Given the description of an element on the screen output the (x, y) to click on. 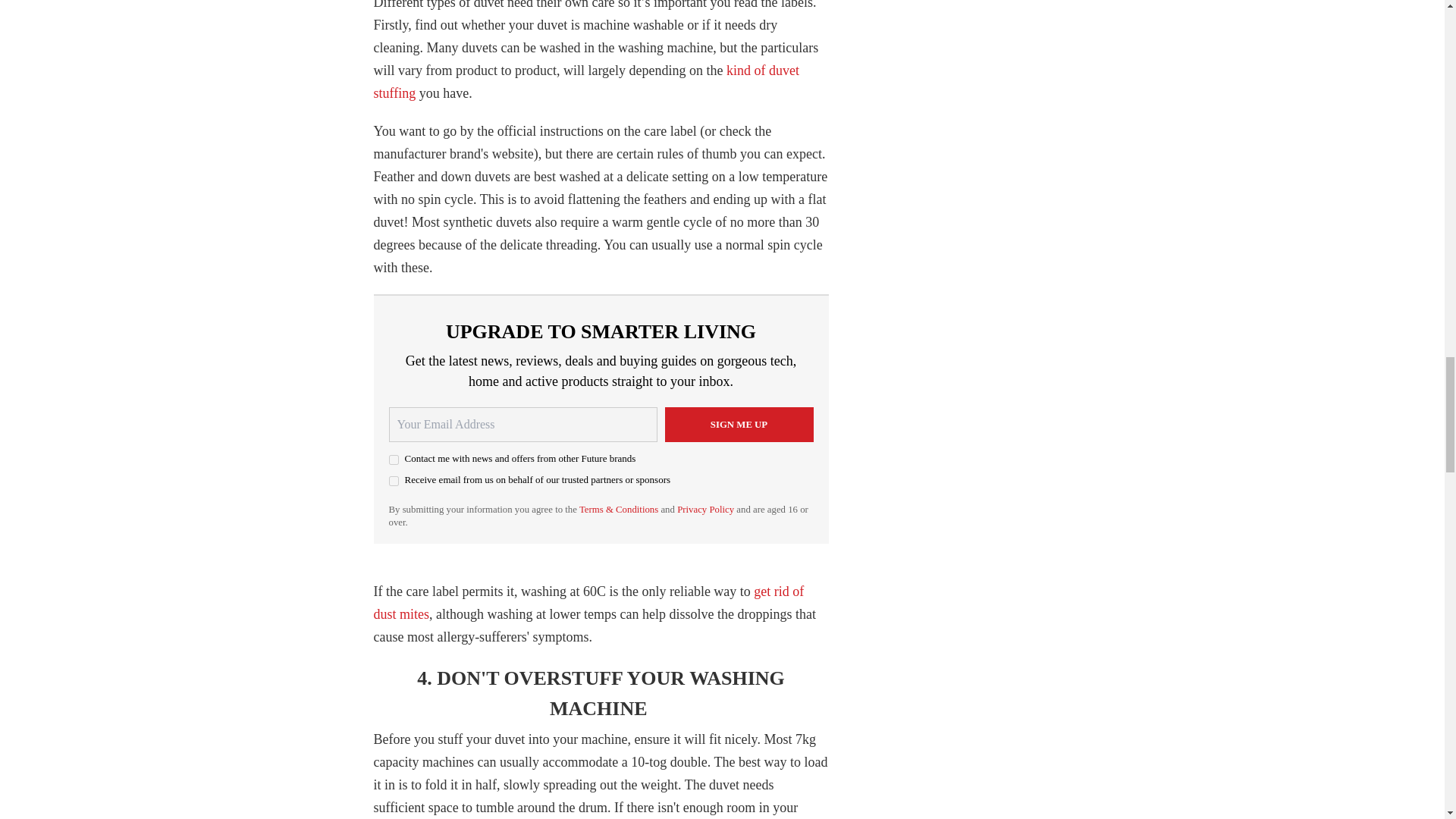
on (392, 460)
on (392, 480)
Sign me up (737, 424)
